Given the description of an element on the screen output the (x, y) to click on. 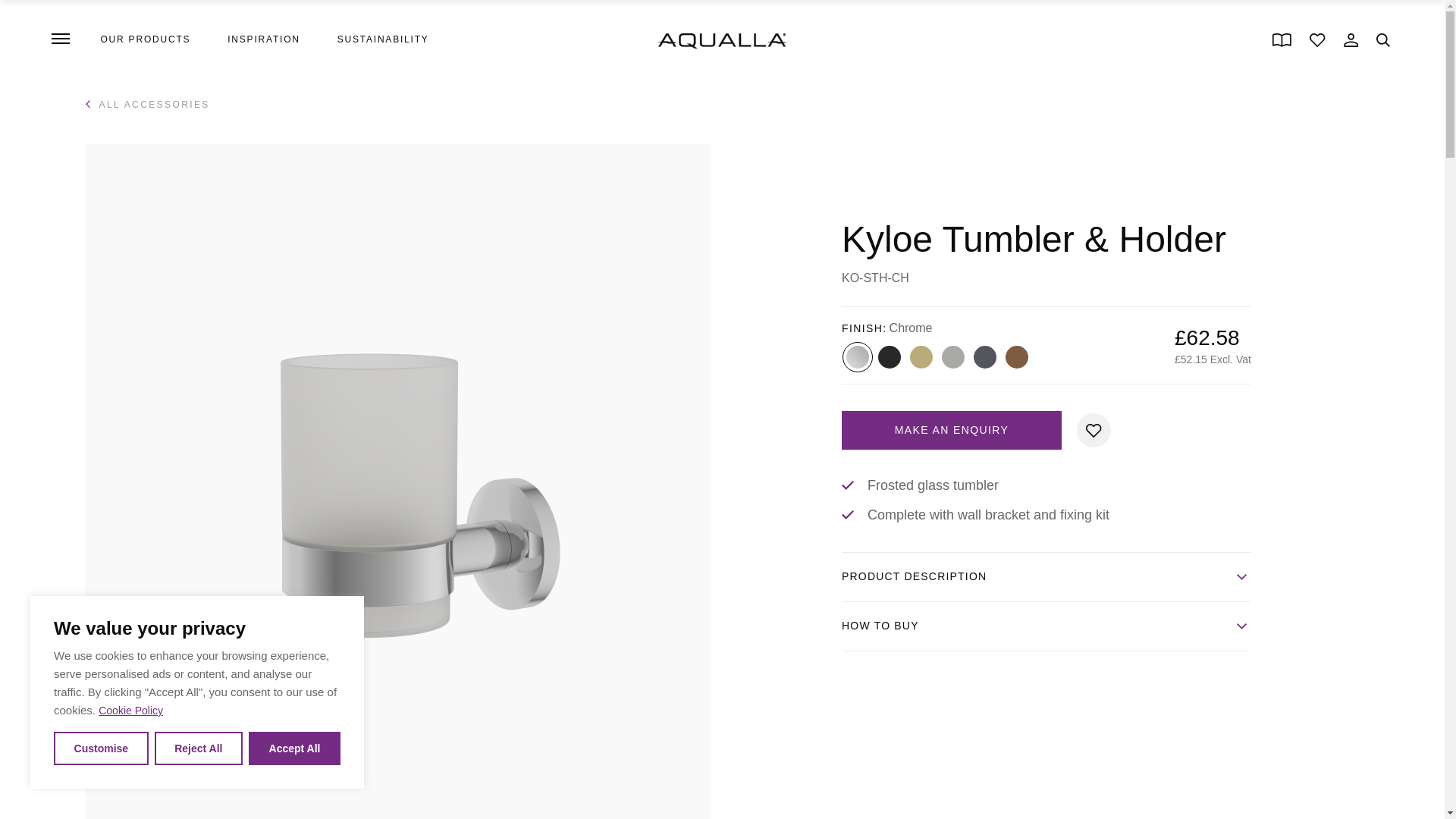
Brushed Nickel (952, 356)
Brushed Brass (921, 356)
Chrome (857, 356)
Brushed Bronze (1016, 356)
Open Navigation (60, 37)
Matt Black (889, 356)
Gunmetal Grey (984, 356)
INSPIRATION (263, 40)
Customise (100, 748)
SUSTAINABILITY (383, 40)
Accept All (294, 748)
OUR PRODUCTS (145, 40)
Cookie Policy (131, 710)
Reject All (198, 748)
